Given the description of an element on the screen output the (x, y) to click on. 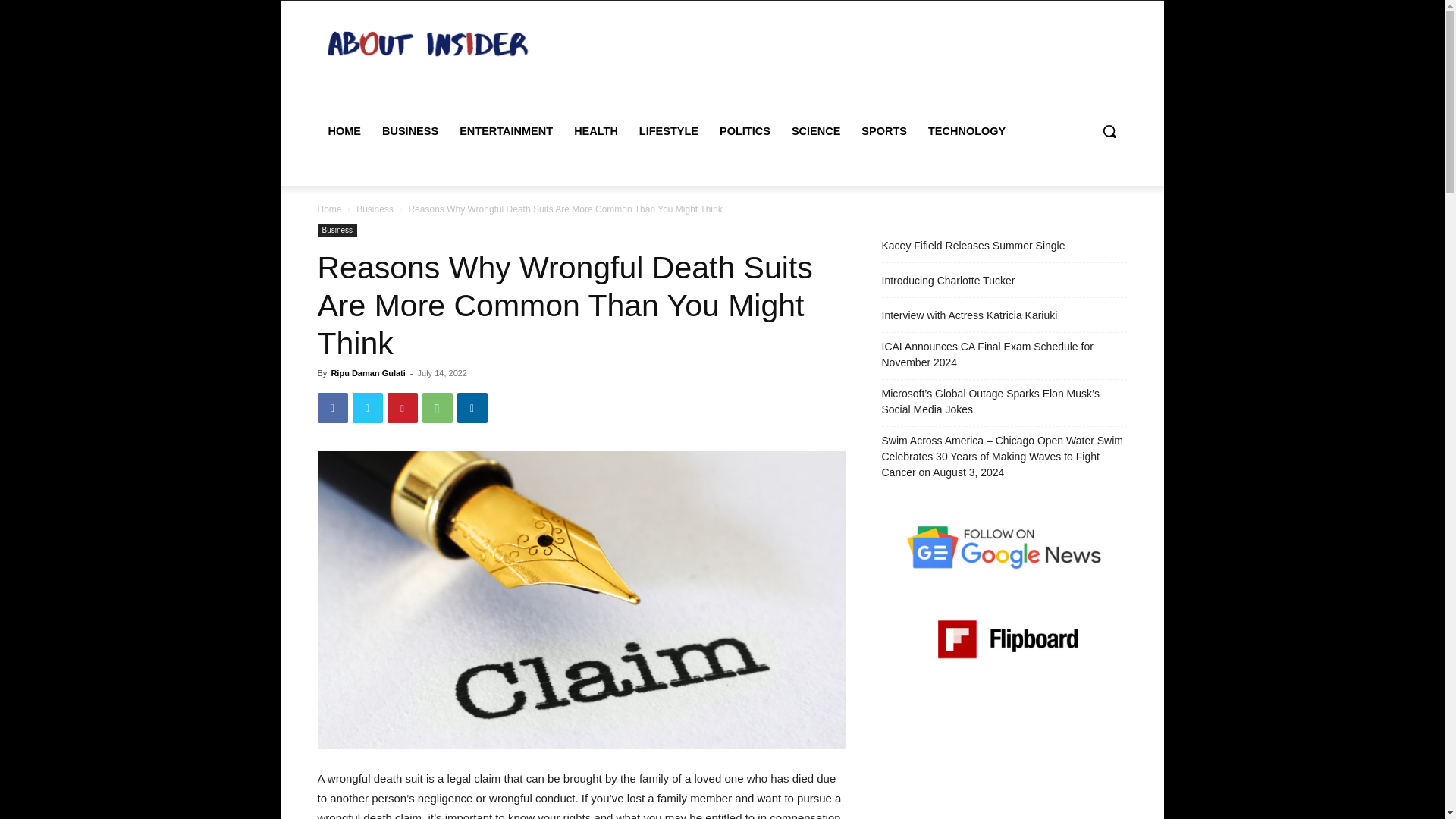
HOME (344, 131)
BUSINESS (409, 131)
POLITICS (744, 131)
HEALTH (595, 131)
View all posts in Business (374, 208)
Twitter (366, 408)
Pinterest (401, 408)
Ripu Daman Gulati (367, 372)
Business (374, 208)
ENTERTAINMENT (505, 131)
Linkedin (471, 408)
WhatsApp (436, 408)
TECHNOLOGY (966, 131)
Business (336, 230)
